Given the description of an element on the screen output the (x, y) to click on. 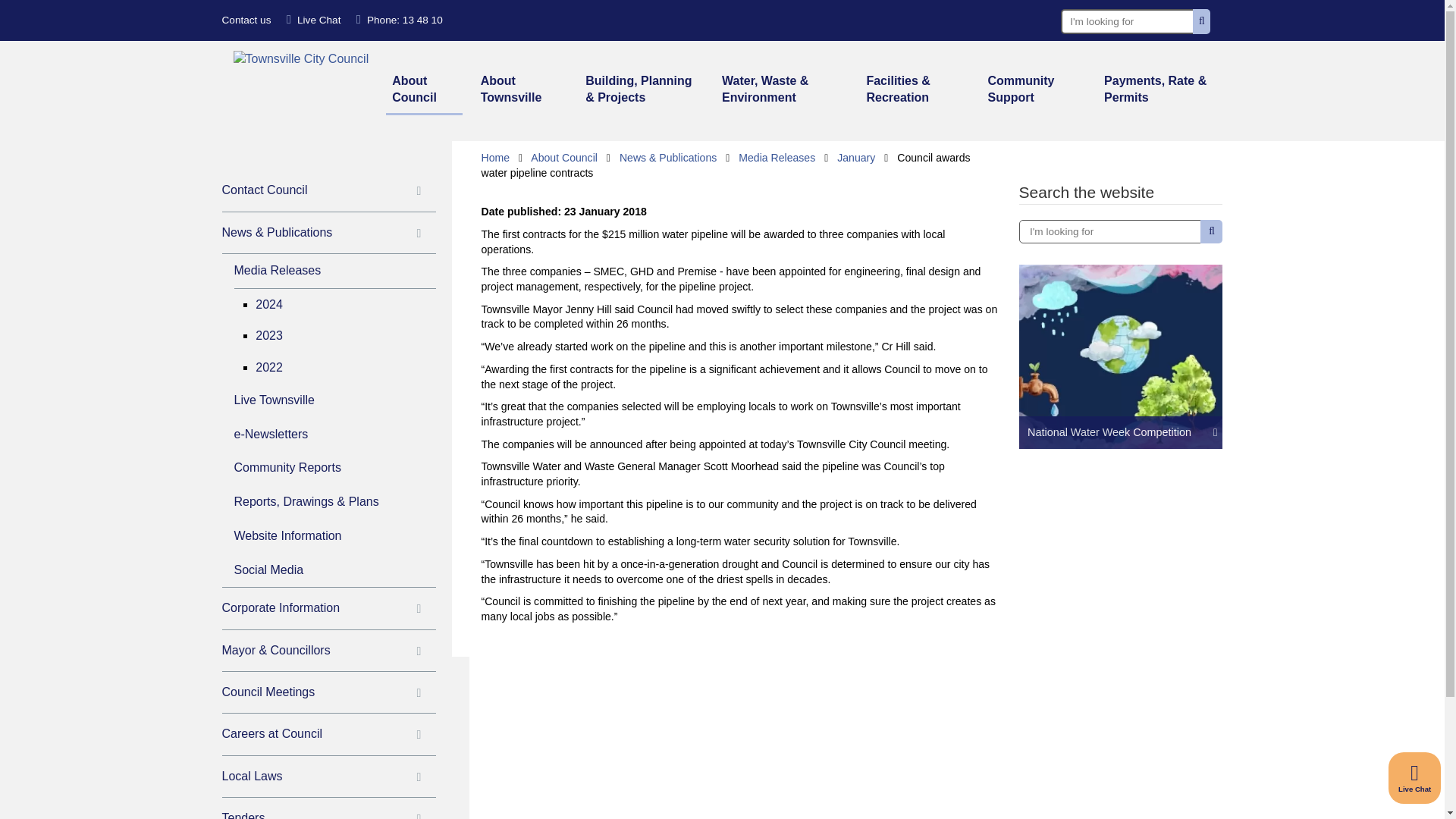
Contact us (245, 20)
Live Chat (1415, 777)
About Council (424, 90)
Live Chat (313, 20)
Chat with a Townsville City Council representative. (1415, 777)
Chat with a Townsville City Council representative. (313, 20)
Phone: 13 48 10 (399, 20)
